Given the description of an element on the screen output the (x, y) to click on. 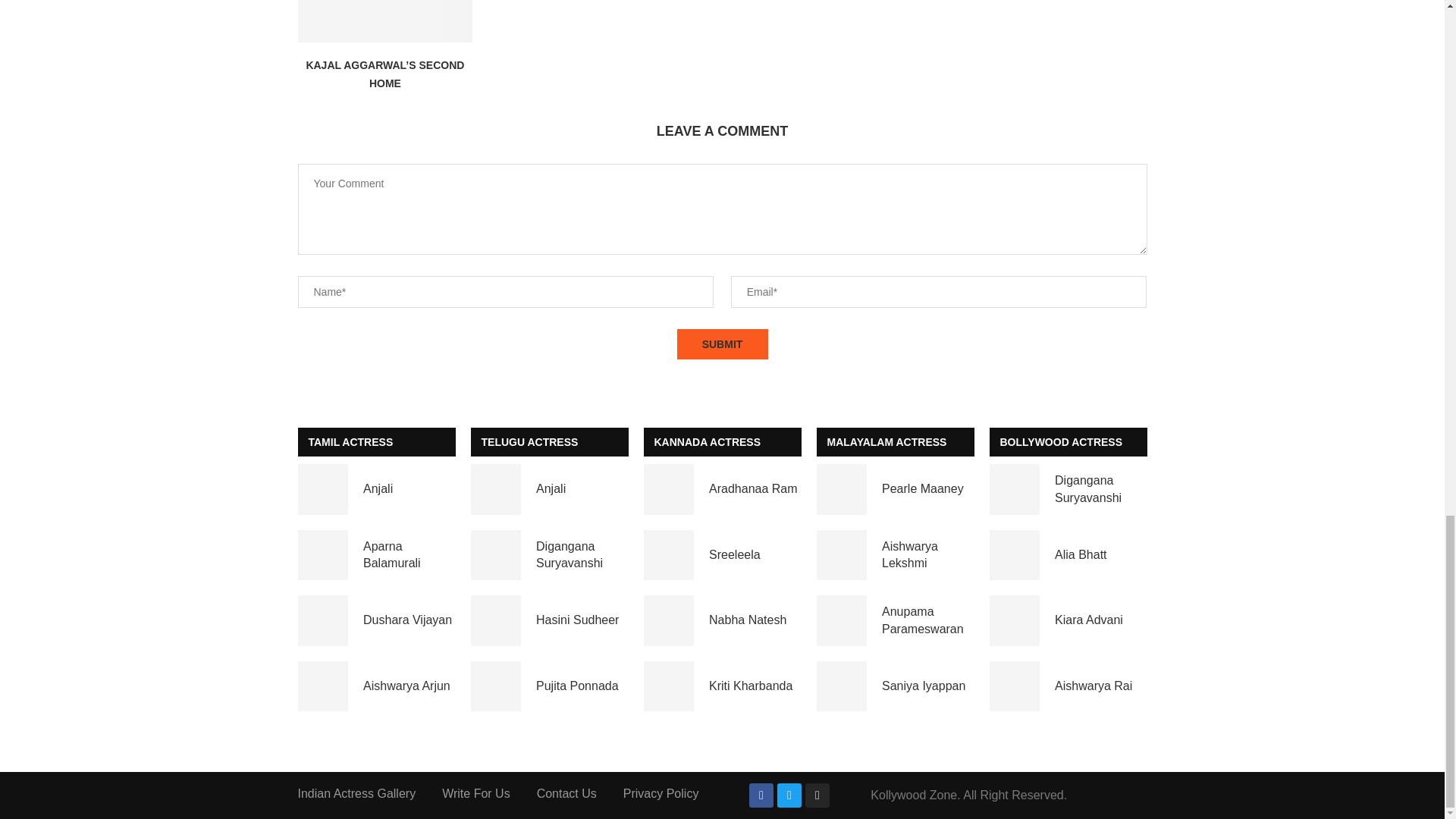
Pujita Ponnada (495, 685)
Submit (722, 344)
Anjali (322, 489)
Dushara Vijayan (322, 620)
Aparna Balamurali (322, 554)
Sreeleela (668, 554)
Aishwarya Arjun (322, 685)
Aradhanaa Ram (668, 489)
Hasini Sudheer (495, 620)
Digangana Suryavanshi (495, 554)
Anjali (495, 489)
Submit (722, 344)
